Given the description of an element on the screen output the (x, y) to click on. 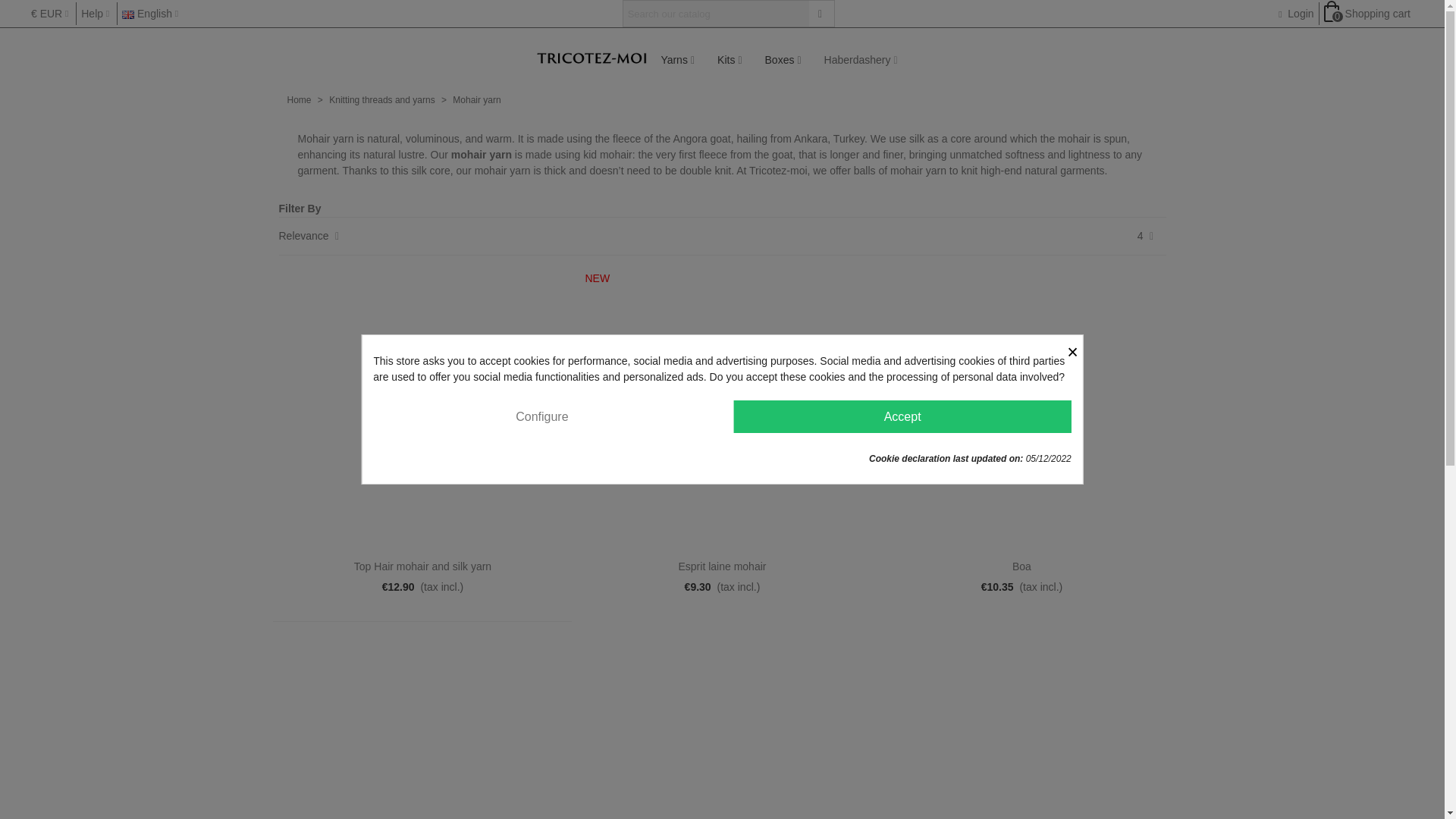
Log in to your customer account (1294, 13)
Login (1294, 13)
View my shopping cart (1368, 13)
Kits (729, 58)
Boxes (783, 58)
Knitting threads and yarns (677, 58)
Yarns (677, 58)
Tricotez-moi (592, 59)
